Given the description of an element on the screen output the (x, y) to click on. 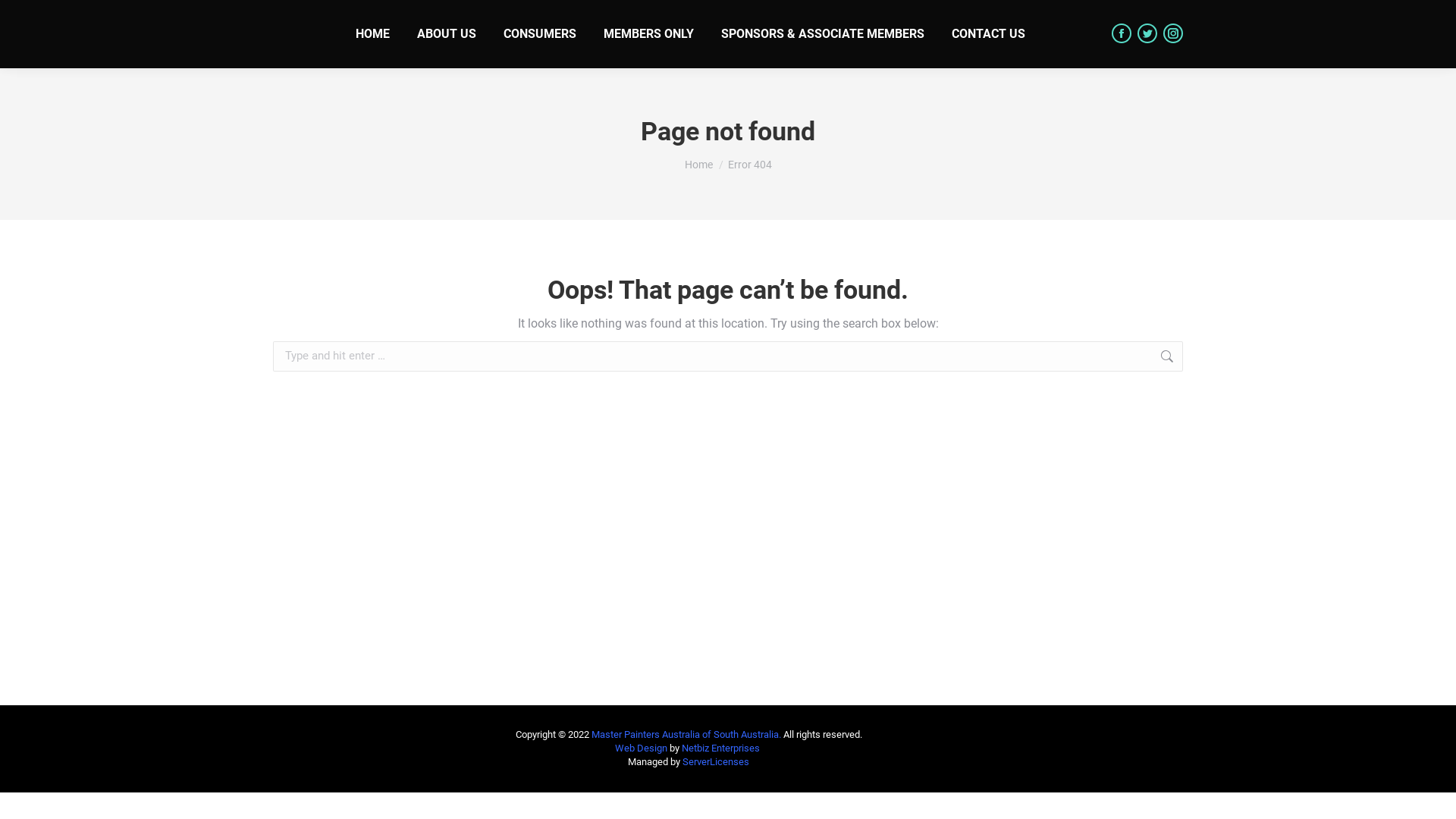
Master Painters Australia of South Australia Element type: text (684, 734)
Web Design Element type: text (641, 747)
Go! Element type: text (1206, 357)
CONTACT US Element type: text (988, 33)
MEMBERS ONLY Element type: text (648, 33)
Home Element type: text (698, 164)
Netbiz Enterprises Element type: text (720, 747)
HOME Element type: text (372, 33)
ABOUT US Element type: text (446, 33)
SPONSORS & ASSOCIATE MEMBERS Element type: text (822, 33)
ServerLicenses Element type: text (715, 761)
Instagram page opens in new window Element type: hover (1173, 33)
CONSUMERS Element type: text (539, 33)
Facebook page opens in new window Element type: hover (1121, 33)
Twitter page opens in new window Element type: hover (1147, 33)
